Given the description of an element on the screen output the (x, y) to click on. 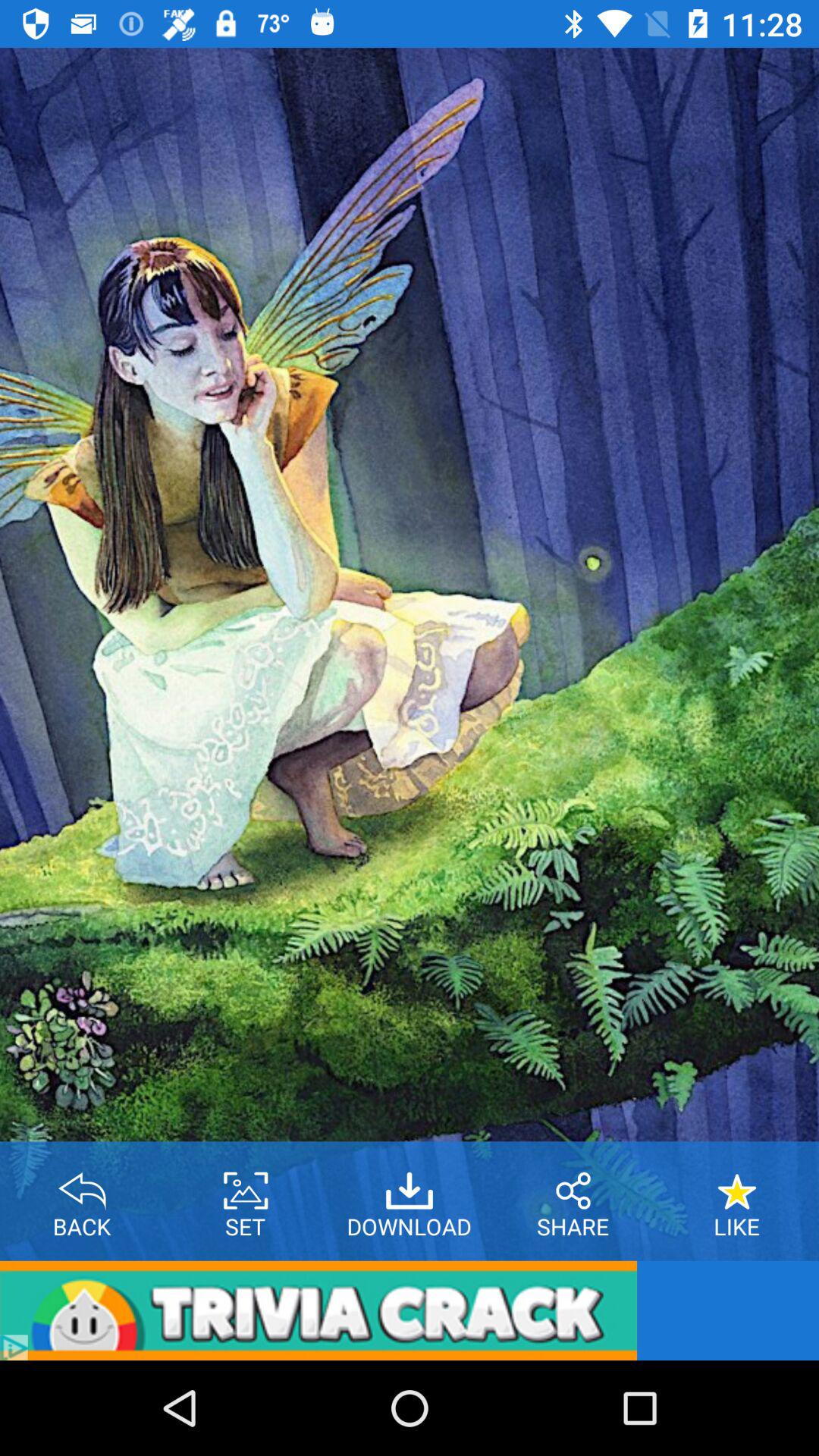
open trivia crack (318, 1310)
